Given the description of an element on the screen output the (x, y) to click on. 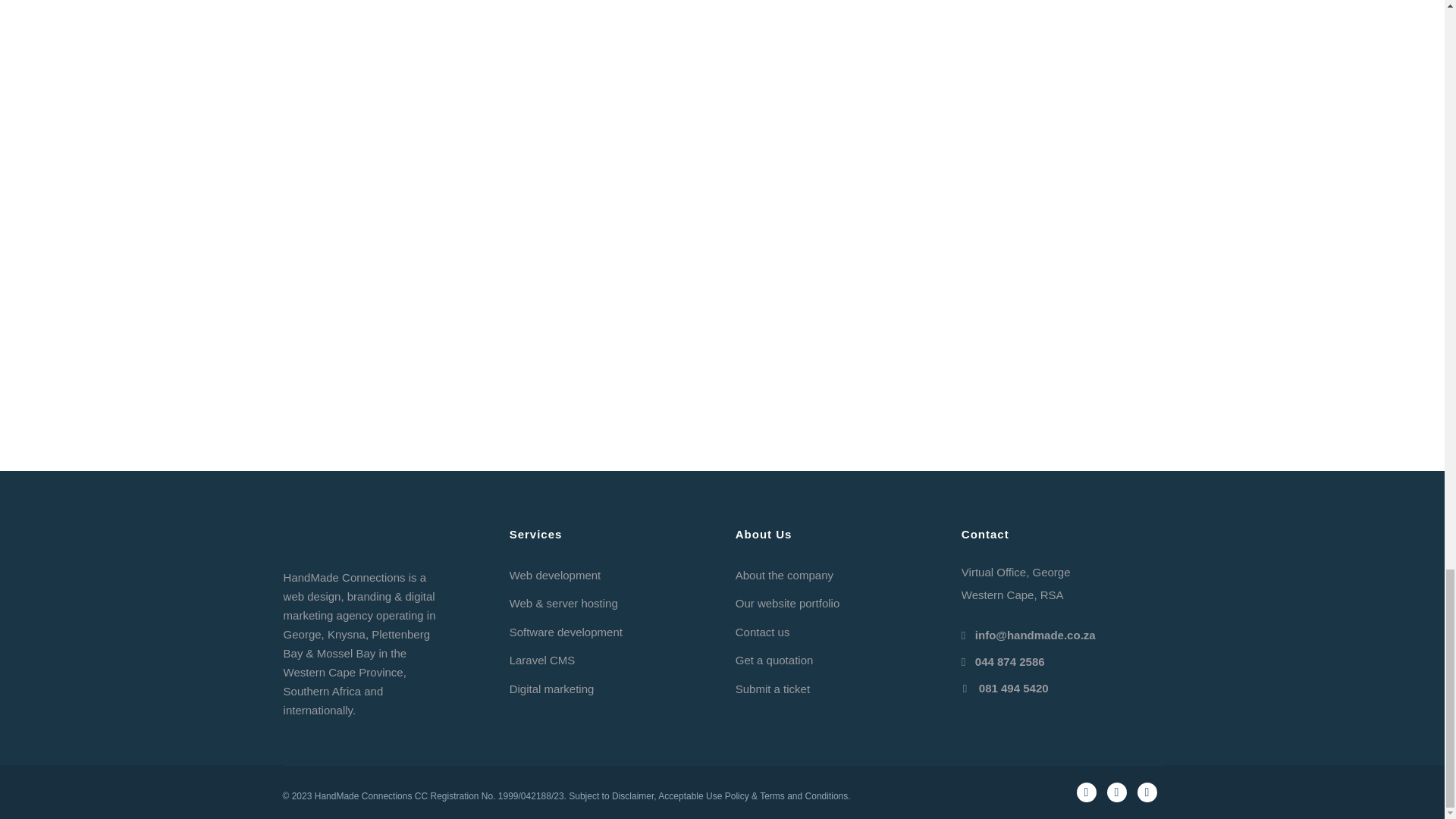
Linkedin (1147, 792)
Get a quotation (774, 659)
Instagram (1116, 792)
Digital marketing (551, 688)
Web development (555, 574)
Facebook (1086, 792)
Our website portfolio (787, 603)
Contact us (762, 631)
Laravel CMS (542, 659)
About the company (783, 574)
Software development (566, 631)
